Given the description of an element on the screen output the (x, y) to click on. 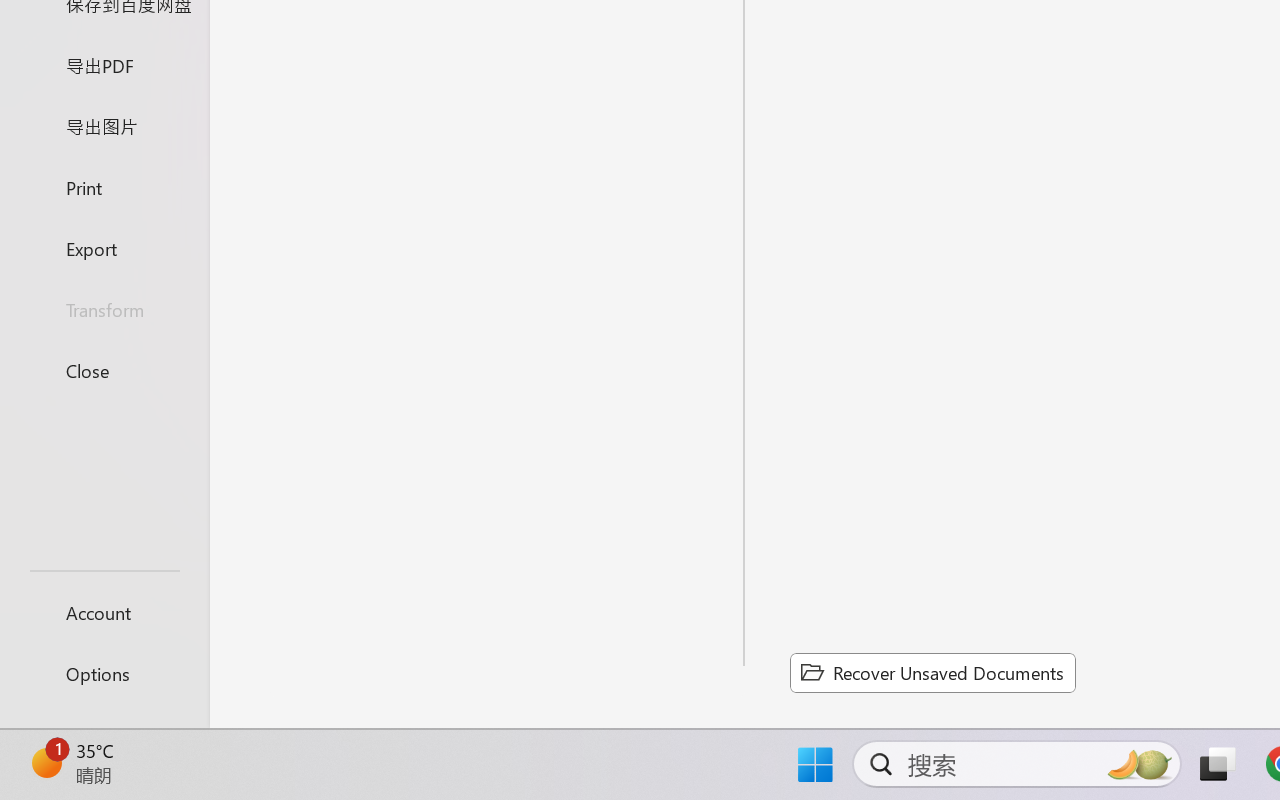
English (United States) (860, 249)
